Given the description of an element on the screen output the (x, y) to click on. 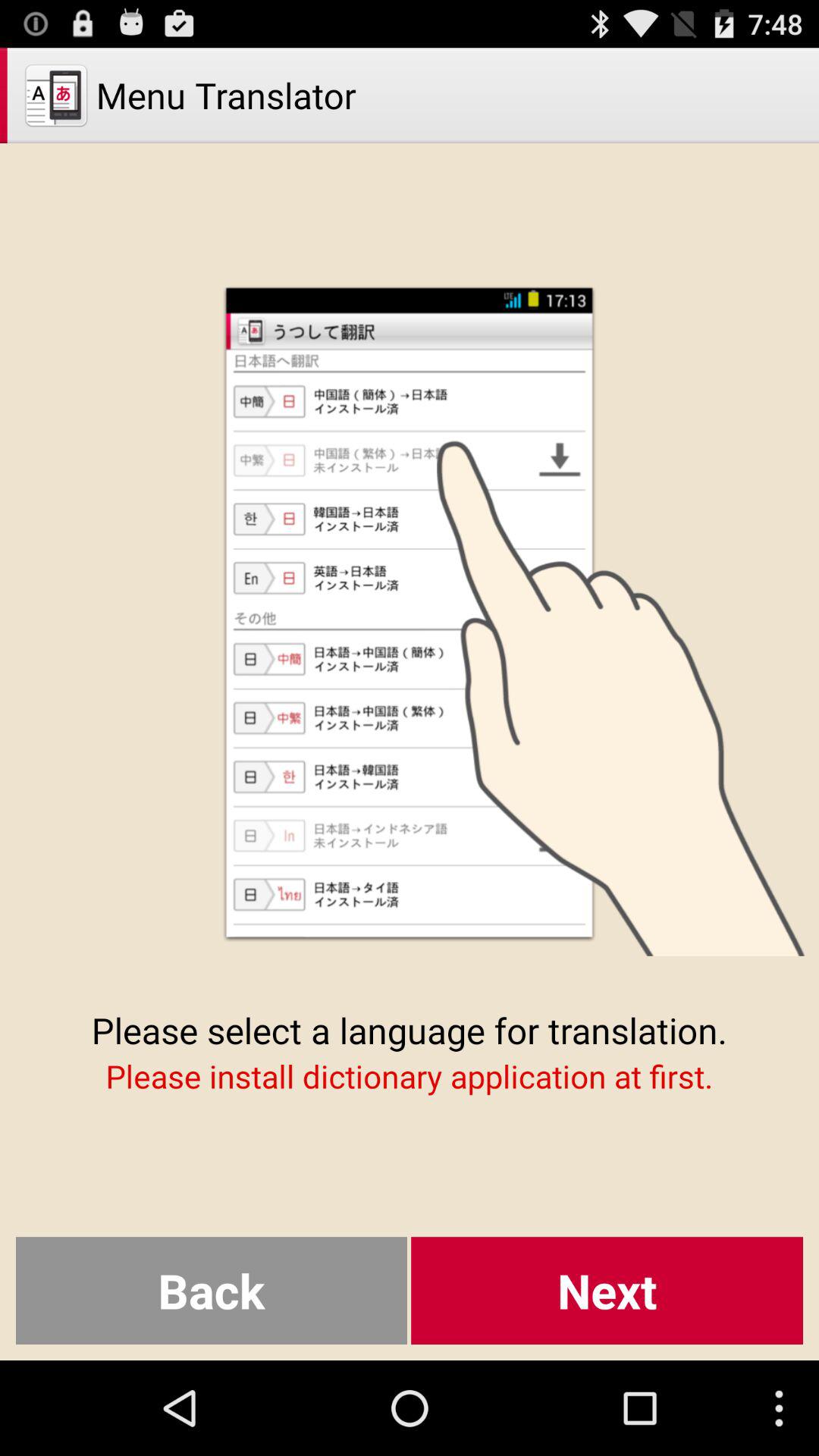
open the button to the right of the back icon (607, 1290)
